Given the description of an element on the screen output the (x, y) to click on. 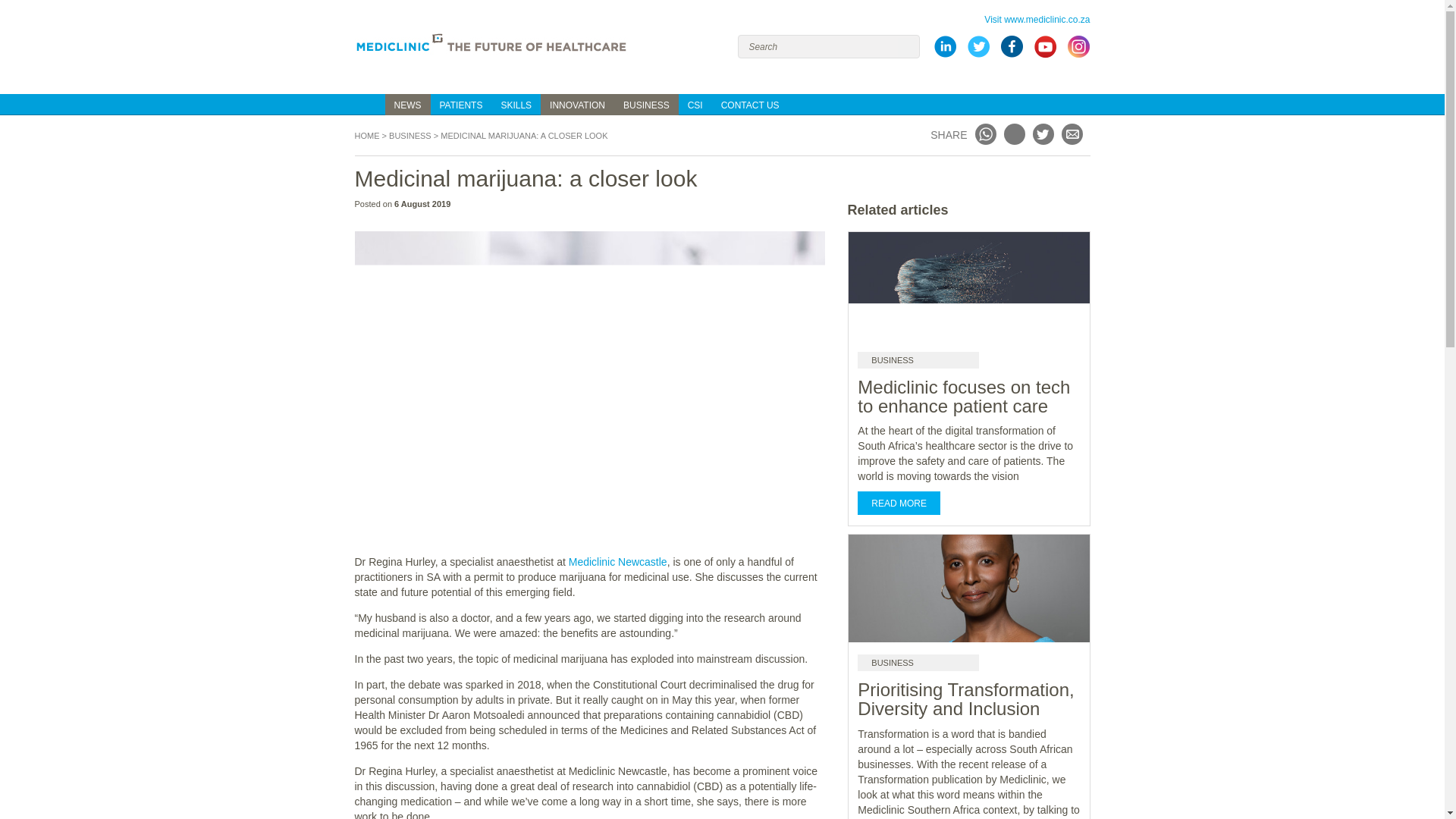
CSI (694, 104)
HOME (370, 104)
BUSINESS (917, 360)
BUSINESS (917, 662)
Mediclinic Newcastle (617, 562)
View our Youtube channel (1044, 54)
CONTACT US (750, 104)
READ MORE (898, 503)
Visit us on Facebook (1010, 54)
View our LinkedIn profile (944, 54)
BUSINESS (646, 104)
Visit www.mediclinic.co.za (1036, 19)
Visit our Twitter page (978, 54)
HOME (367, 135)
NEWS (407, 104)
